Given the description of an element on the screen output the (x, y) to click on. 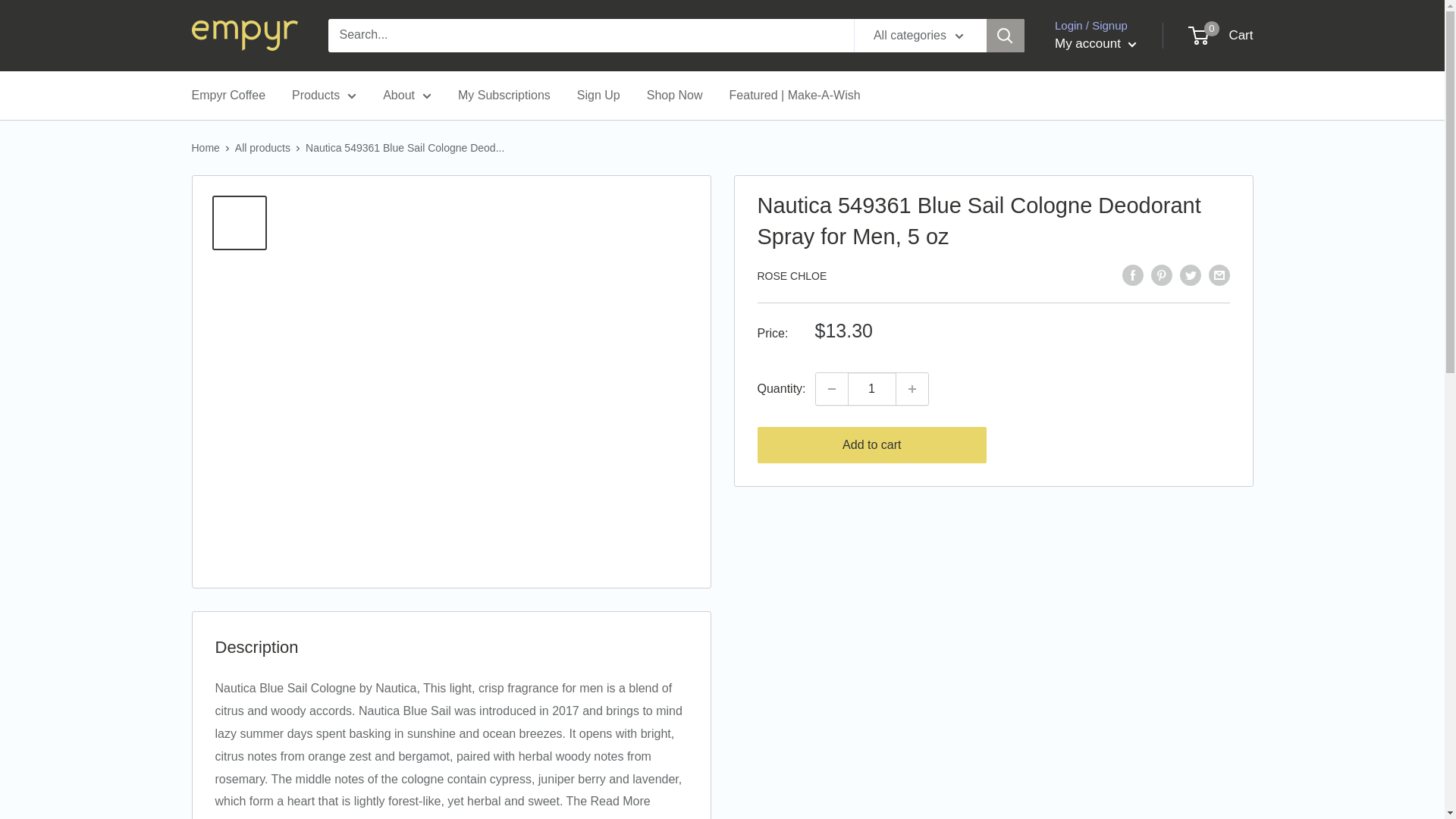
1 (871, 388)
Increase quantity by 1 (912, 388)
Decrease quantity by 1 (831, 388)
